Given the description of an element on the screen output the (x, y) to click on. 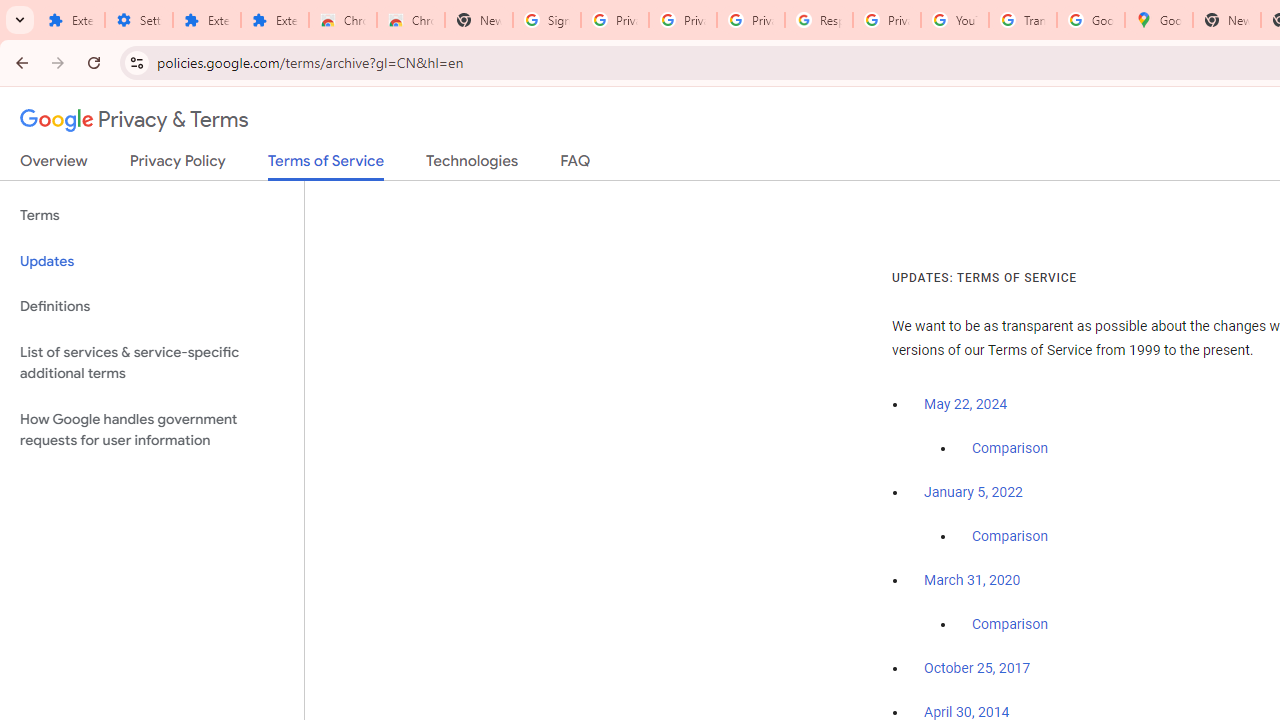
Extensions (70, 20)
January 5, 2022 (973, 492)
How Google handles government requests for user information (152, 429)
Extensions (206, 20)
Chrome Web Store (342, 20)
Definitions (152, 306)
List of services & service-specific additional terms (152, 362)
